Given the description of an element on the screen output the (x, y) to click on. 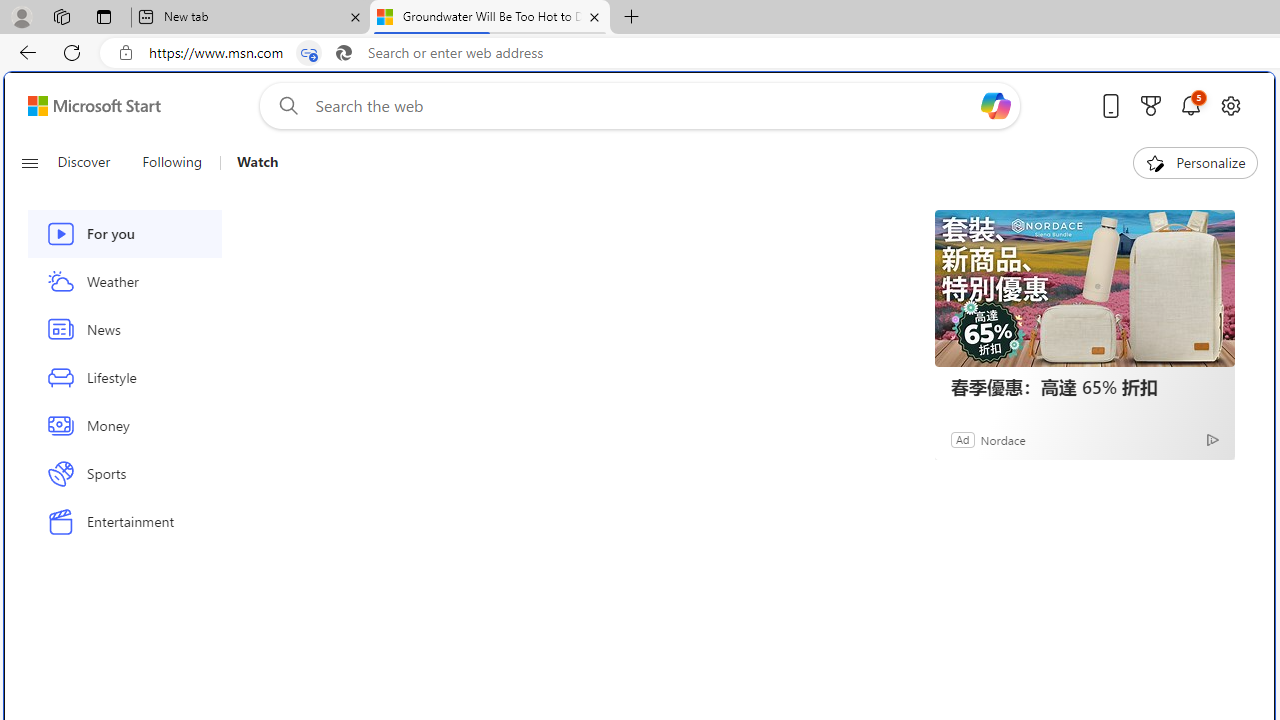
Open settings (1230, 105)
Search icon (343, 53)
Web search (283, 105)
